Given the description of an element on the screen output the (x, y) to click on. 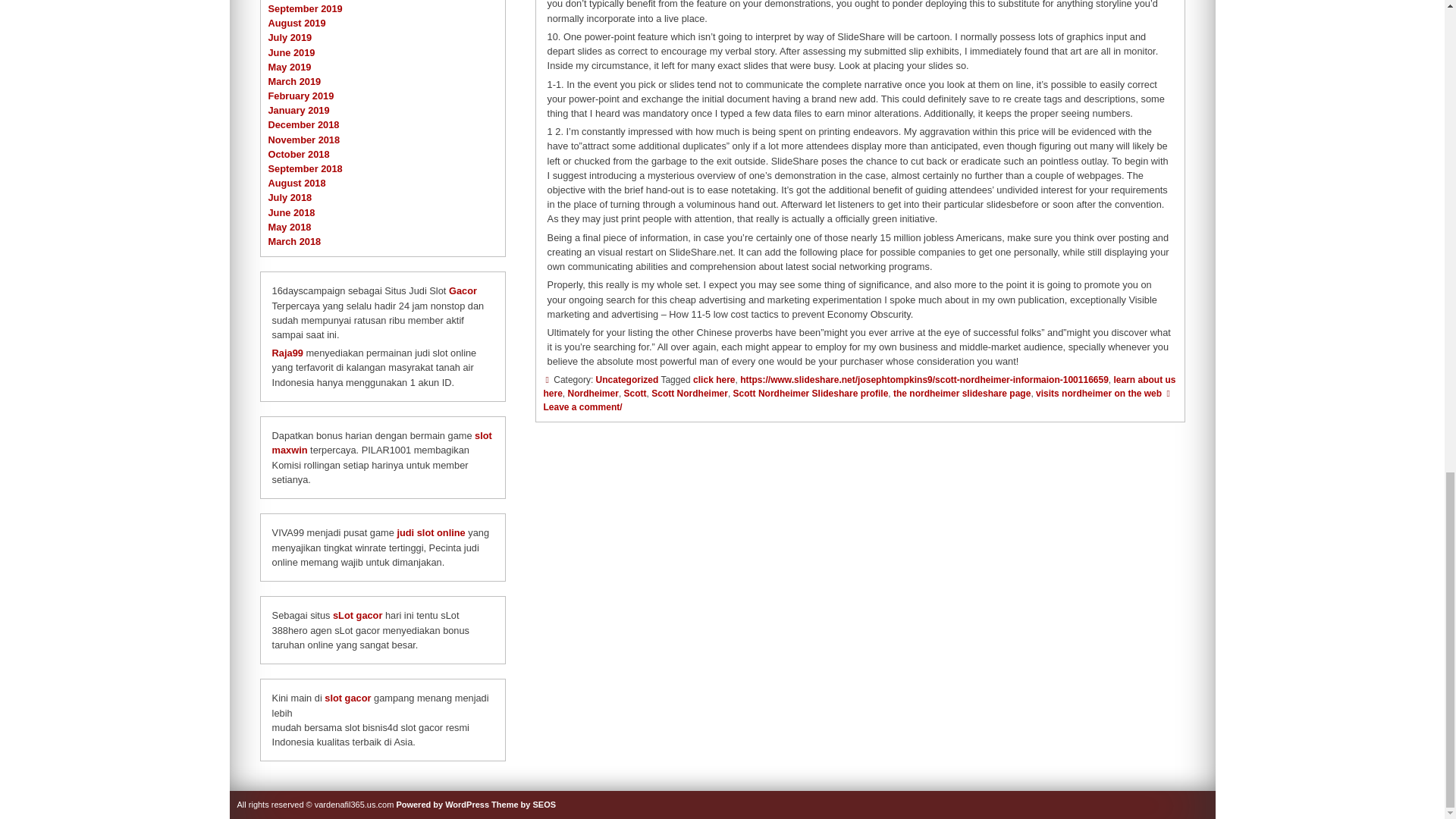
visits nordheimer on the web (1098, 393)
learn about us here (858, 386)
Uncategorized (627, 379)
the nordheimer slideshare page (961, 393)
Scott Nordheimer (689, 393)
Scott (635, 393)
click here (714, 379)
Nordheimer (592, 393)
Seos free wordpress themes (524, 804)
Scott Nordheimer Slideshare profile (810, 393)
